Given the description of an element on the screen output the (x, y) to click on. 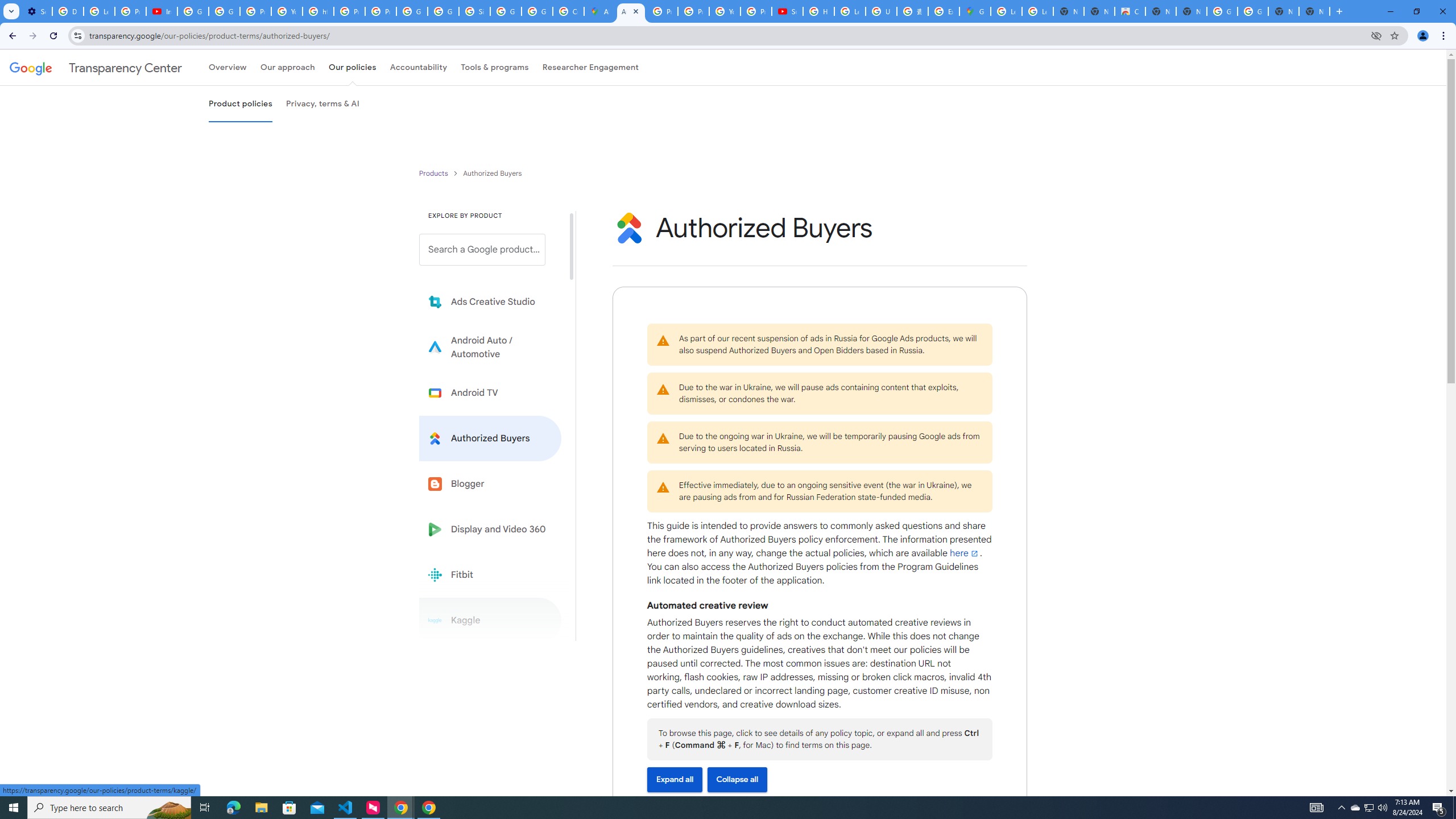
Transparency Center (95, 67)
Collapse all (737, 779)
Kaggle (490, 619)
Fitbit (490, 574)
Our policies (351, 67)
Expand all (674, 779)
Chrome Web Store (1129, 11)
YouTube (286, 11)
Accountability (418, 67)
